Given the description of an element on the screen output the (x, y) to click on. 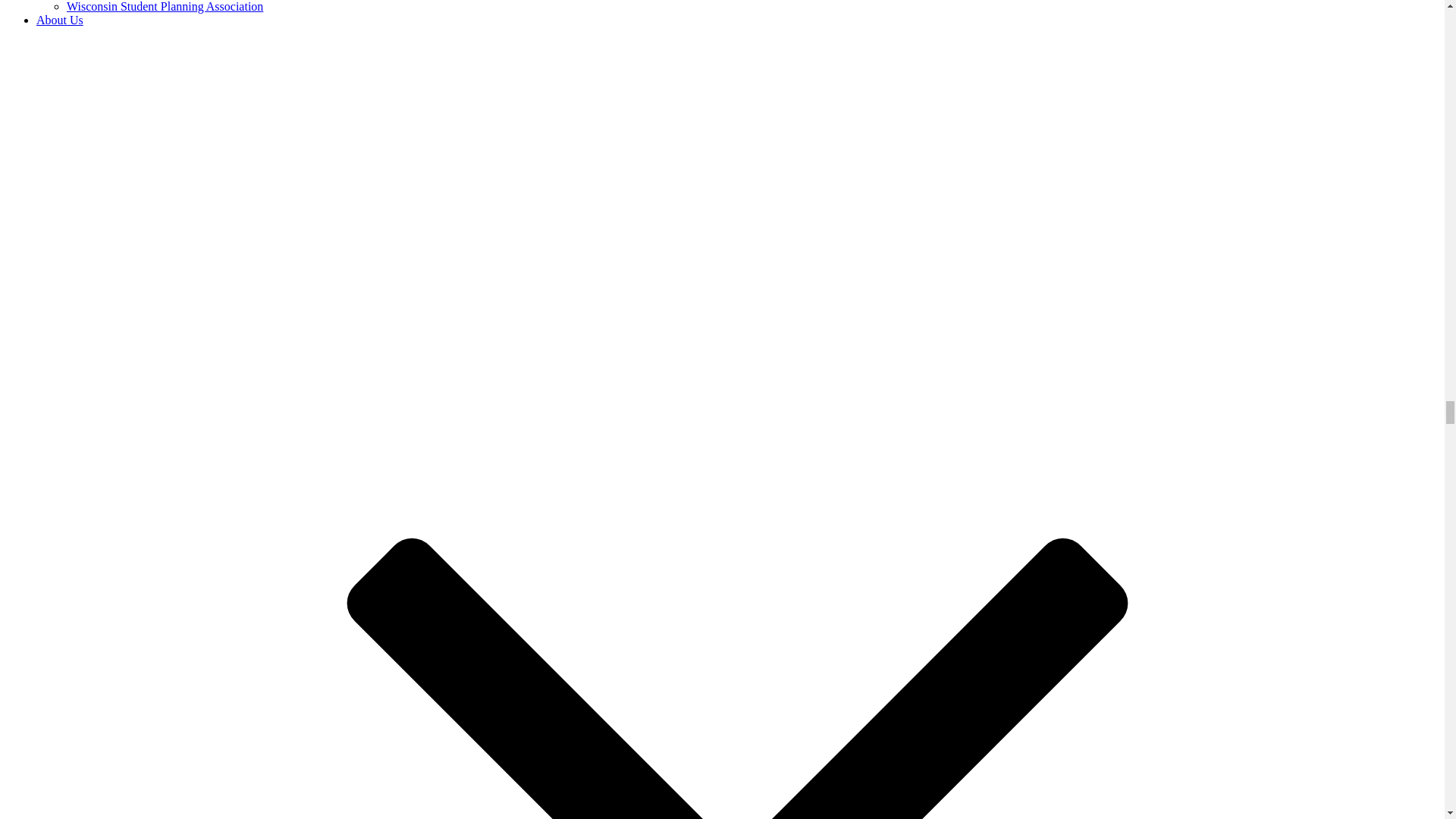
Wisconsin Student Planning Association (164, 6)
